Given the description of an element on the screen output the (x, y) to click on. 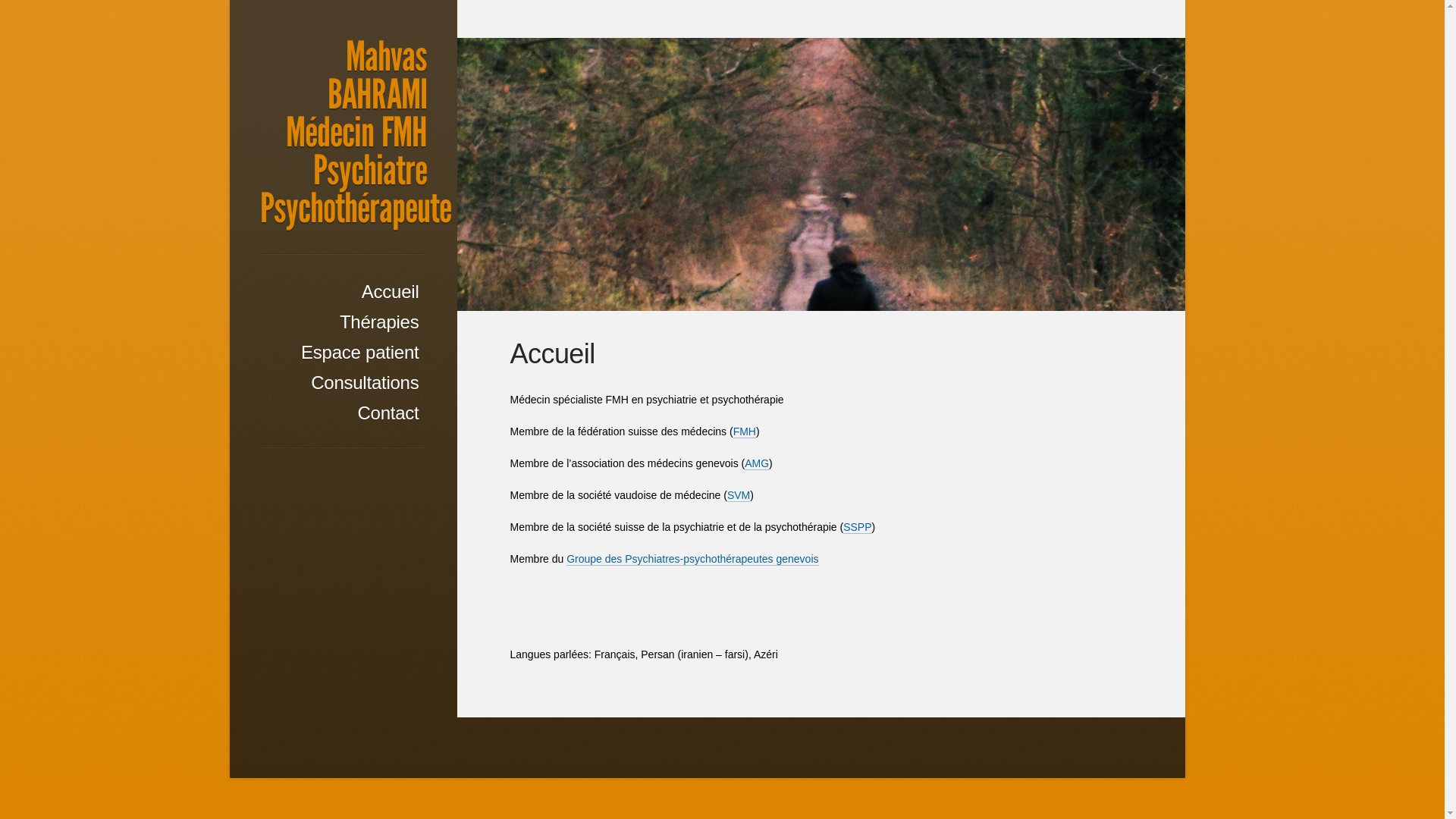
Contact Element type: text (342, 413)
FMH Element type: text (744, 431)
AMG Element type: text (756, 463)
Espace patient Element type: text (342, 352)
Consultations Element type: text (342, 382)
SVM Element type: text (738, 495)
SSPP Element type: text (857, 526)
Skip to content Element type: text (301, 283)
Accueil Element type: text (342, 291)
